Given the description of an element on the screen output the (x, y) to click on. 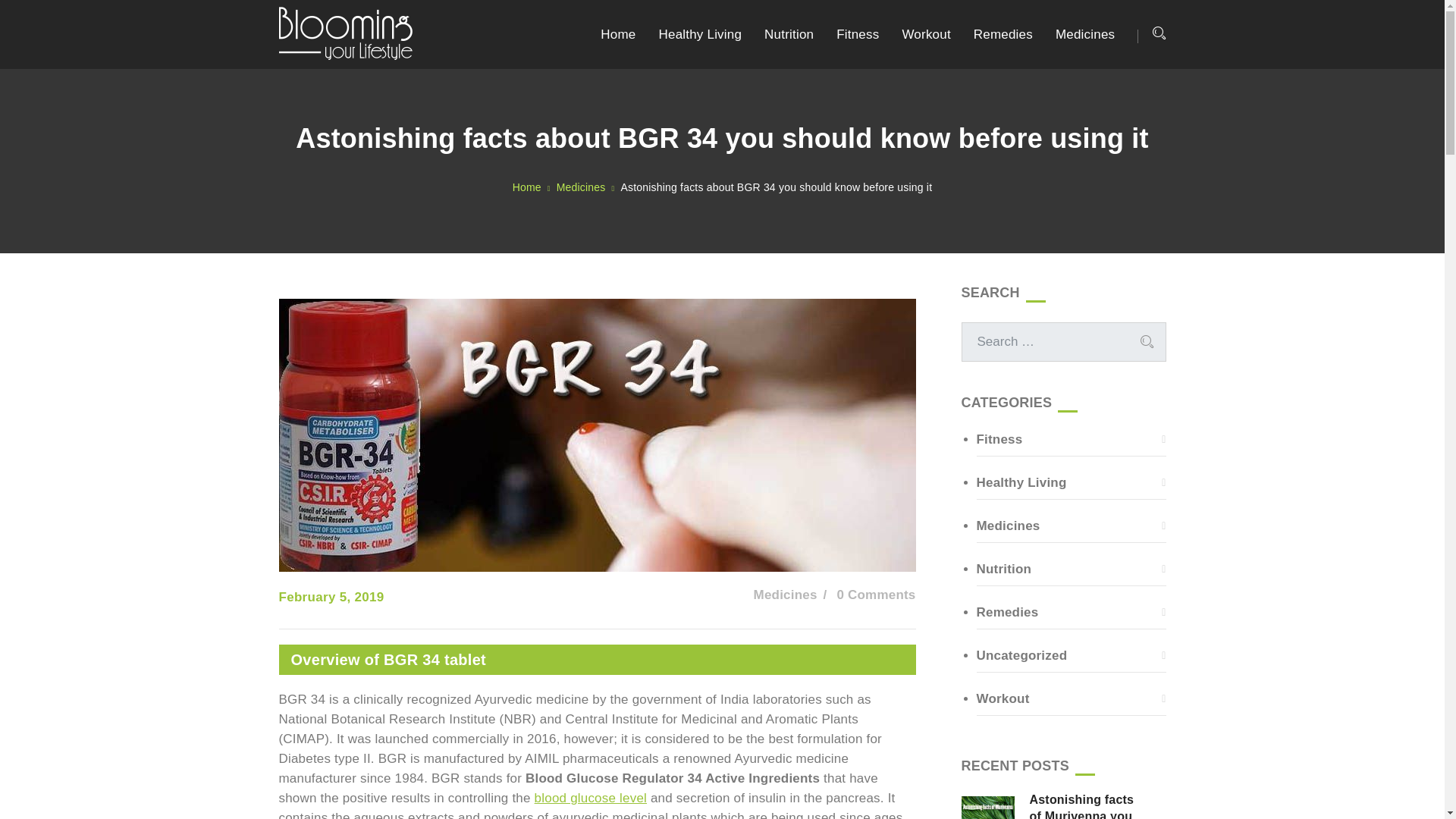
Fitness (1071, 439)
Workout (1071, 699)
Medicines (785, 594)
A Subsidiary of Divinati Services (345, 31)
Medicines (1085, 34)
0 Comments (875, 594)
Remedies (1003, 34)
Nutrition (1071, 569)
Healthy Living (700, 34)
Search (1147, 341)
Astonishing facts of Murivenna you should know ! (1097, 805)
Healthy Living (700, 34)
blood glucose level (590, 798)
Remedies (1071, 612)
Medicines (1071, 525)
